Given the description of an element on the screen output the (x, y) to click on. 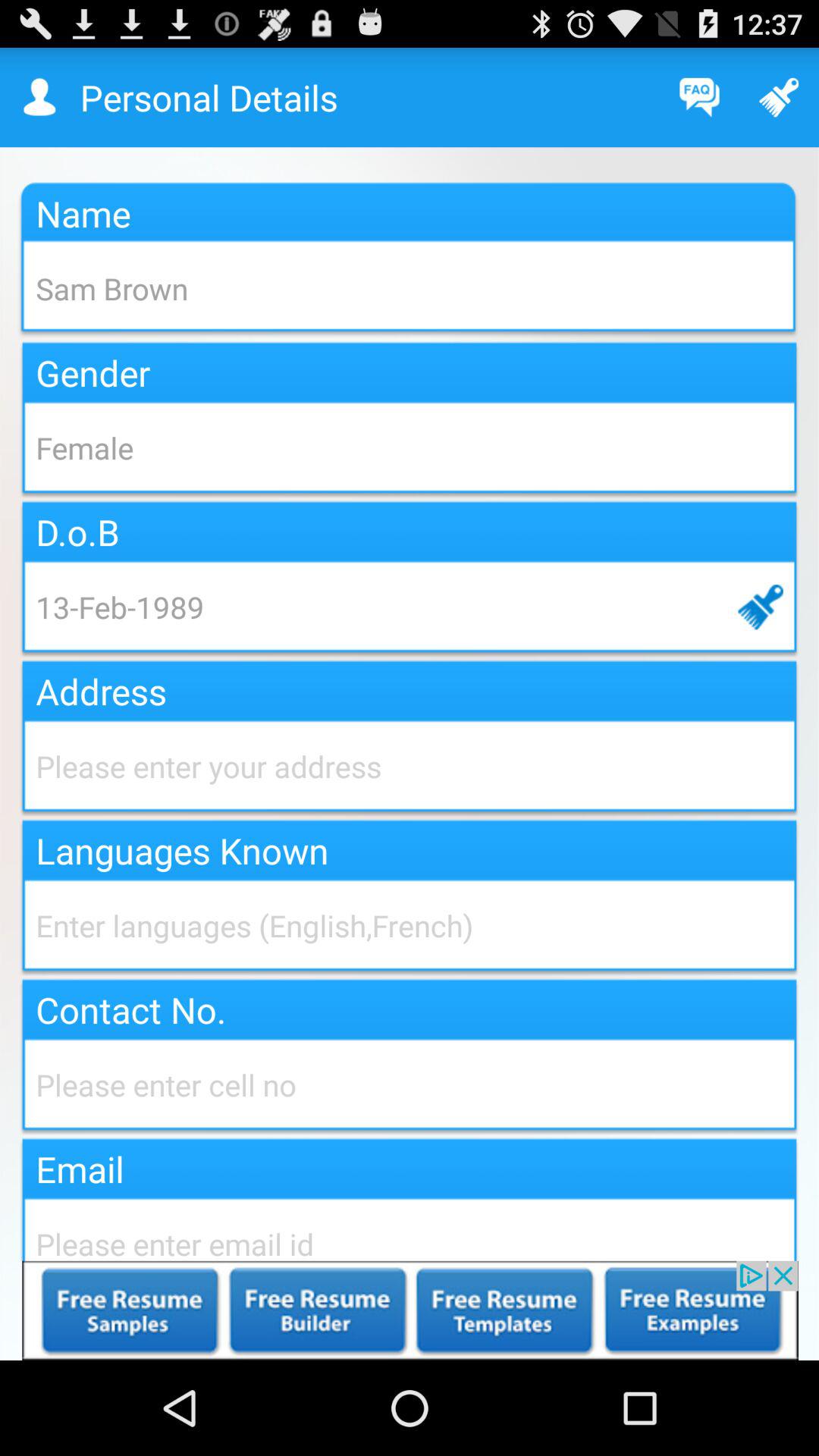
faq (699, 97)
